Given the description of an element on the screen output the (x, y) to click on. 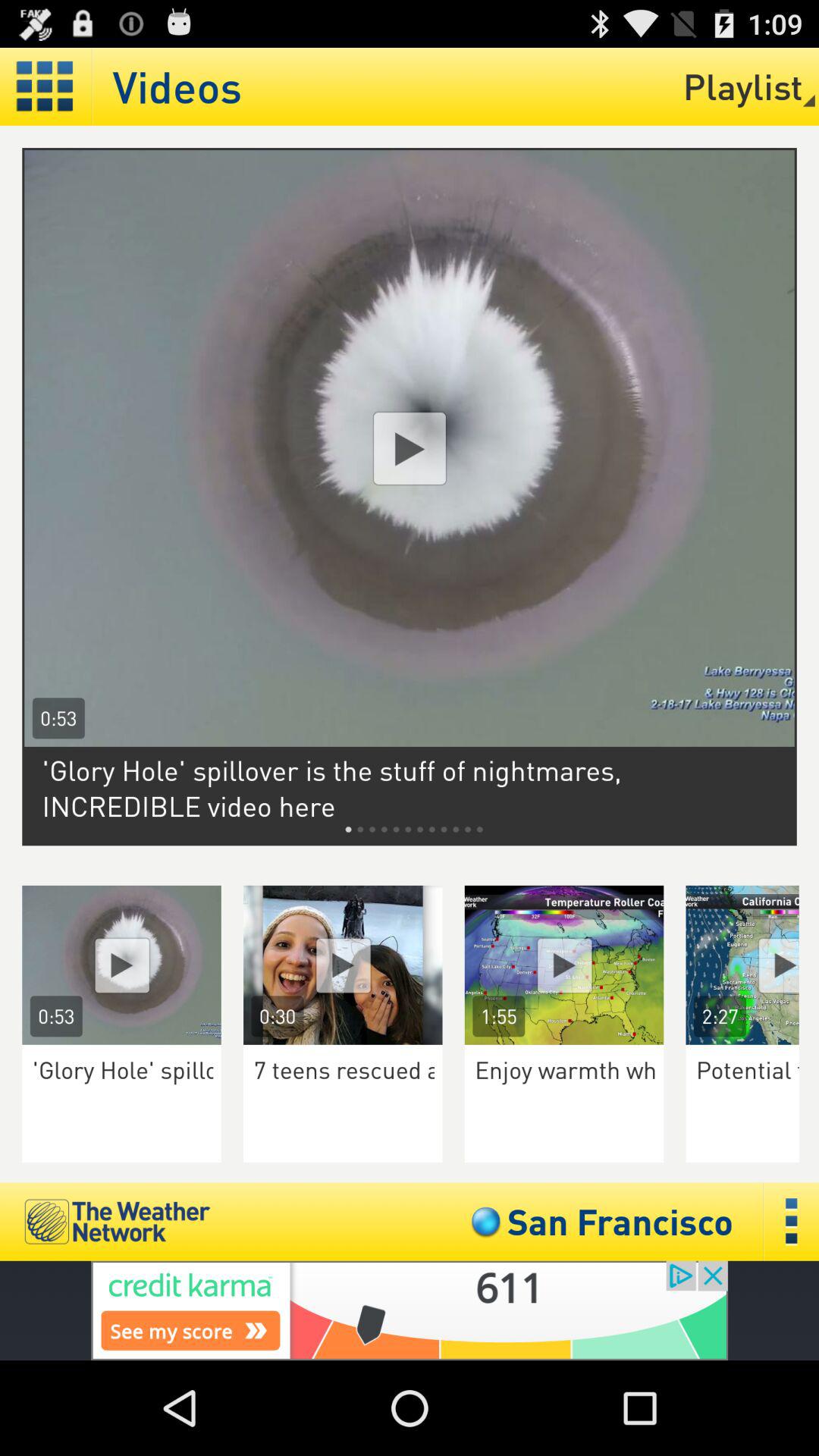
video play (121, 964)
